Given the description of an element on the screen output the (x, y) to click on. 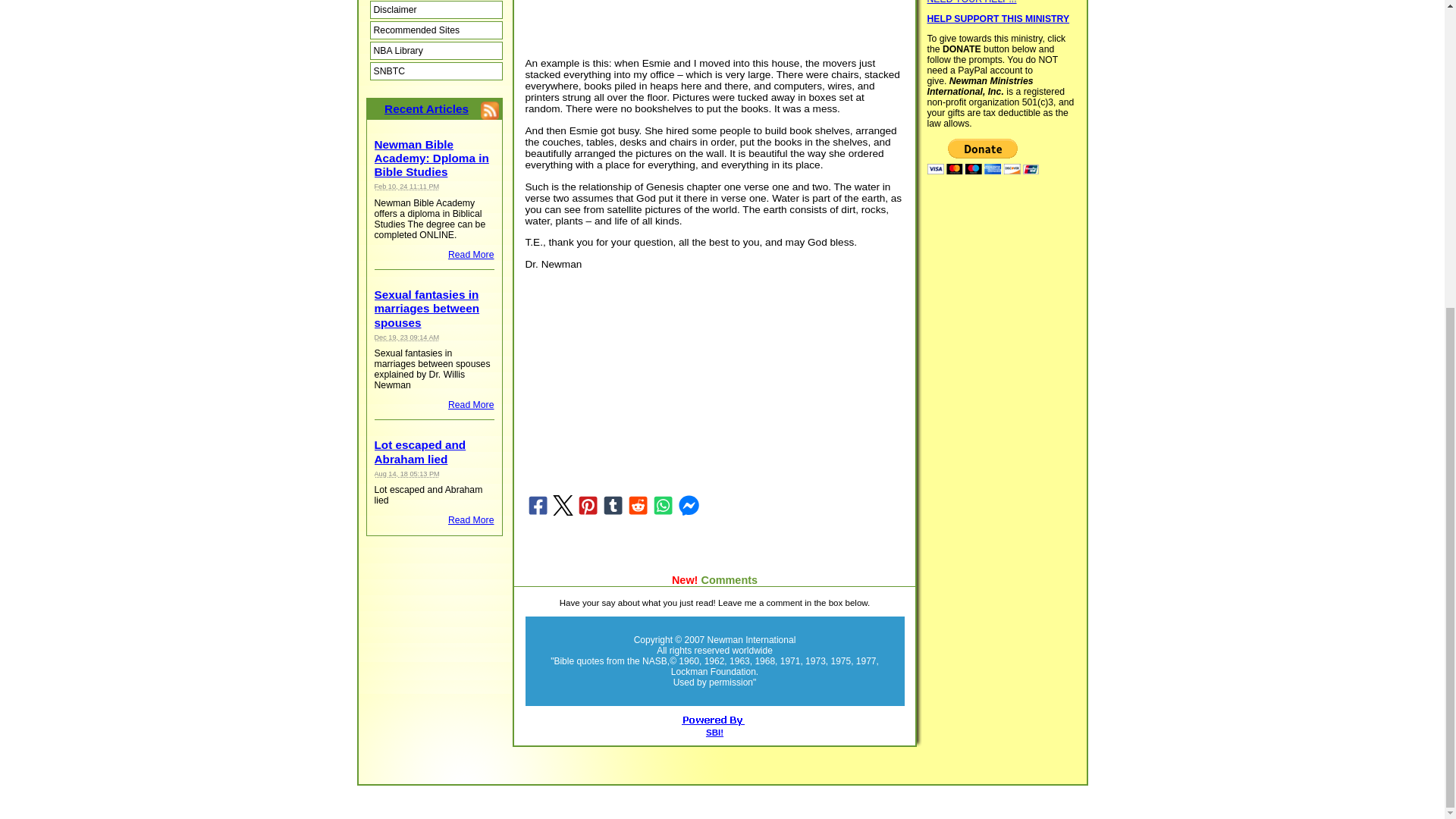
Read More (471, 520)
NBA Library (435, 50)
SNBTC (435, 71)
2018-08-14T17:13:18-0400 (406, 473)
Newman Bible Academy: Dploma in Bible Studies (431, 158)
Advertisement (651, 386)
Advertisement (701, 22)
Read More (471, 404)
Read More (471, 254)
Recommended Sites (435, 30)
